Given the description of an element on the screen output the (x, y) to click on. 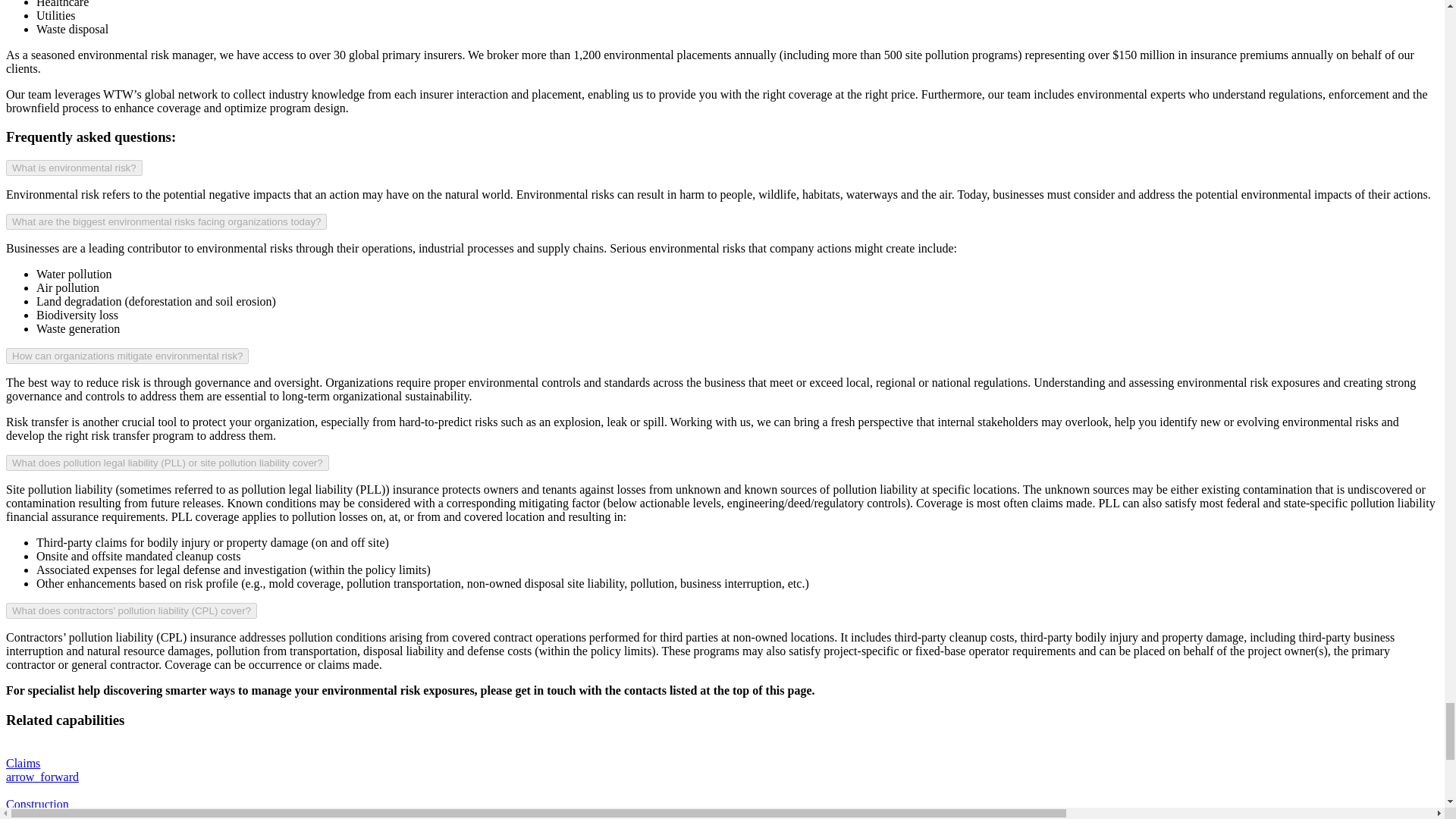
Construction (721, 801)
Claims (721, 762)
